Given the description of an element on the screen output the (x, y) to click on. 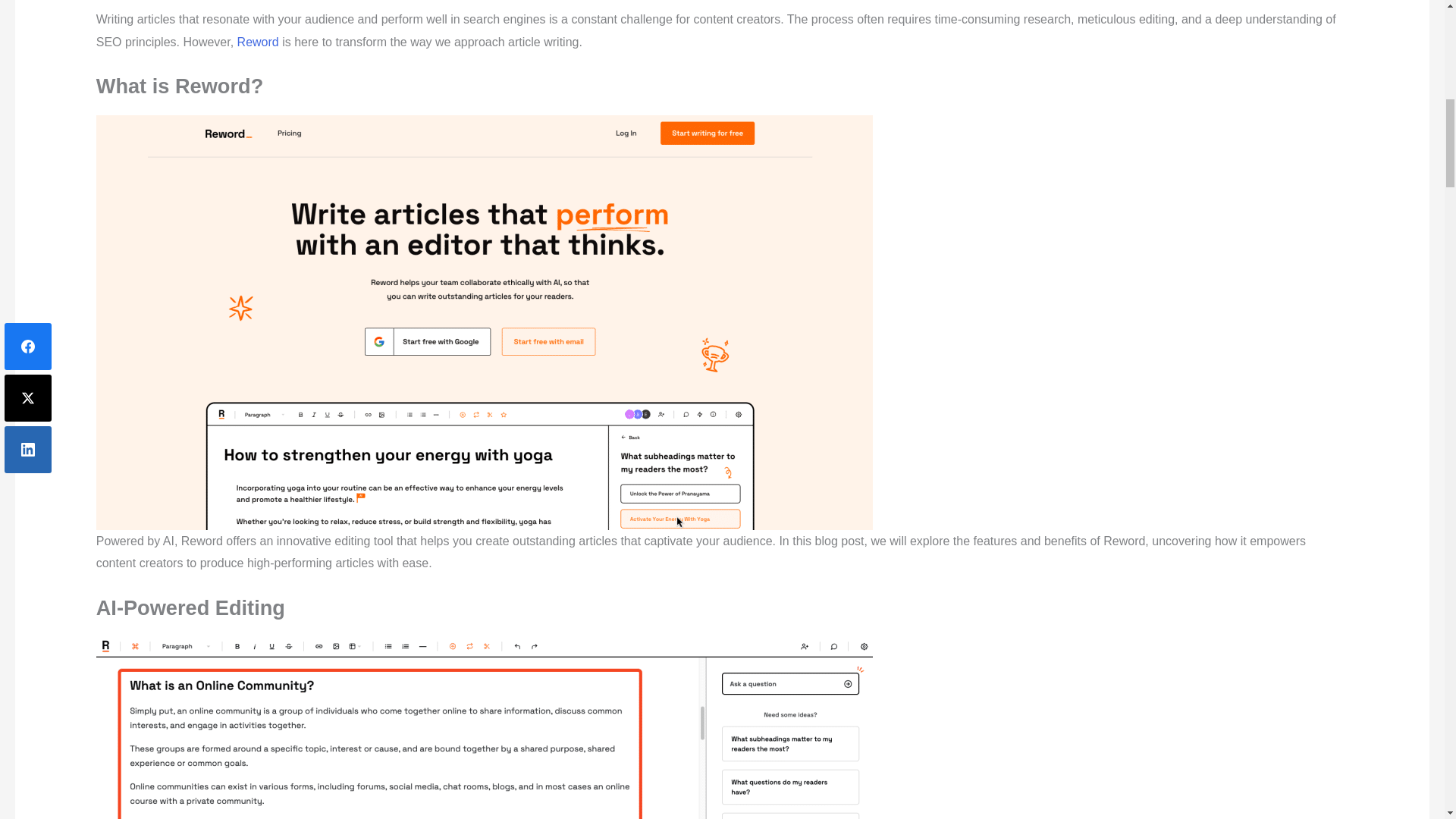
Reword (258, 42)
